Given the description of an element on the screen output the (x, y) to click on. 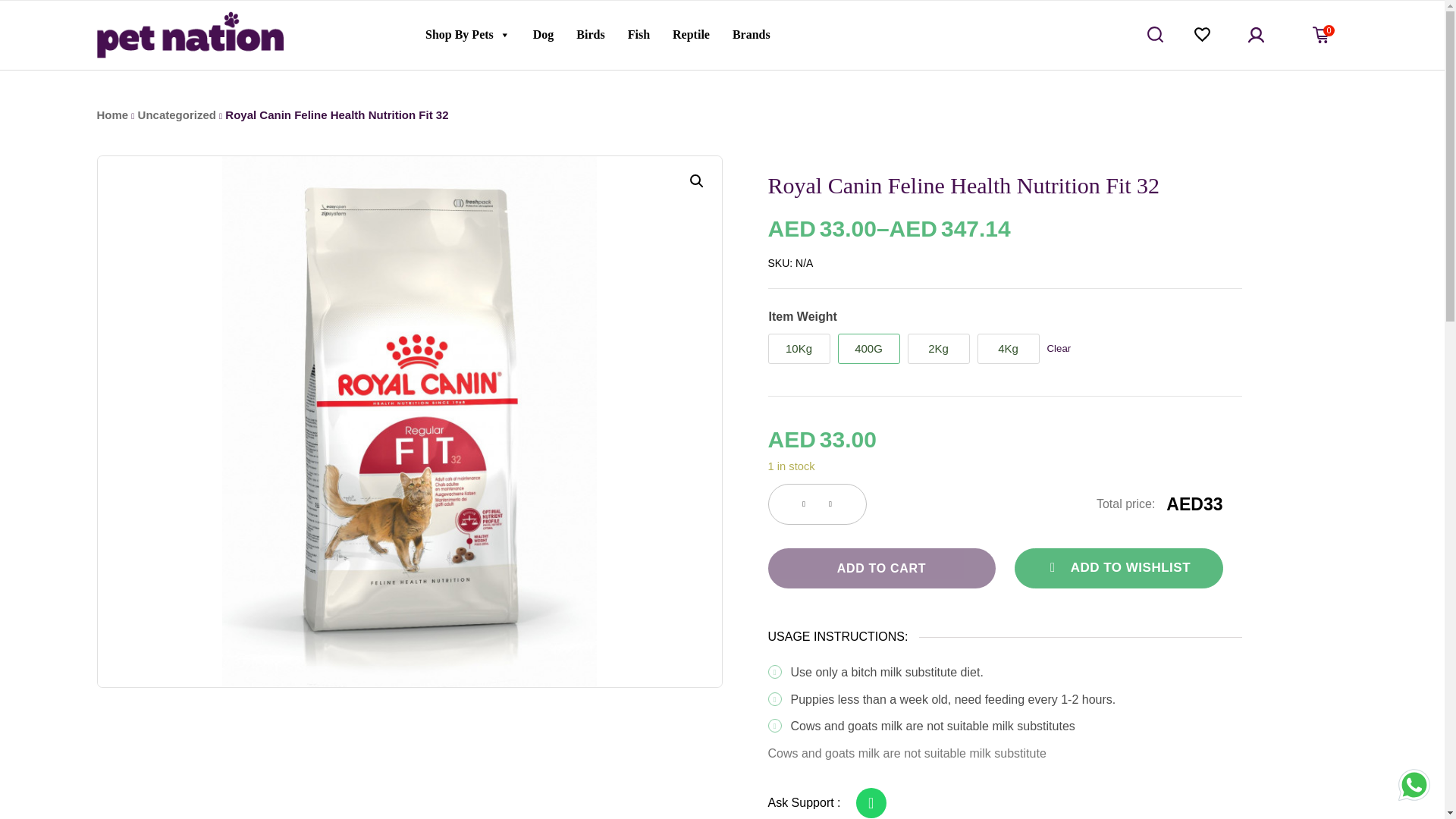
Shop By Pets (467, 34)
